Given the description of an element on the screen output the (x, y) to click on. 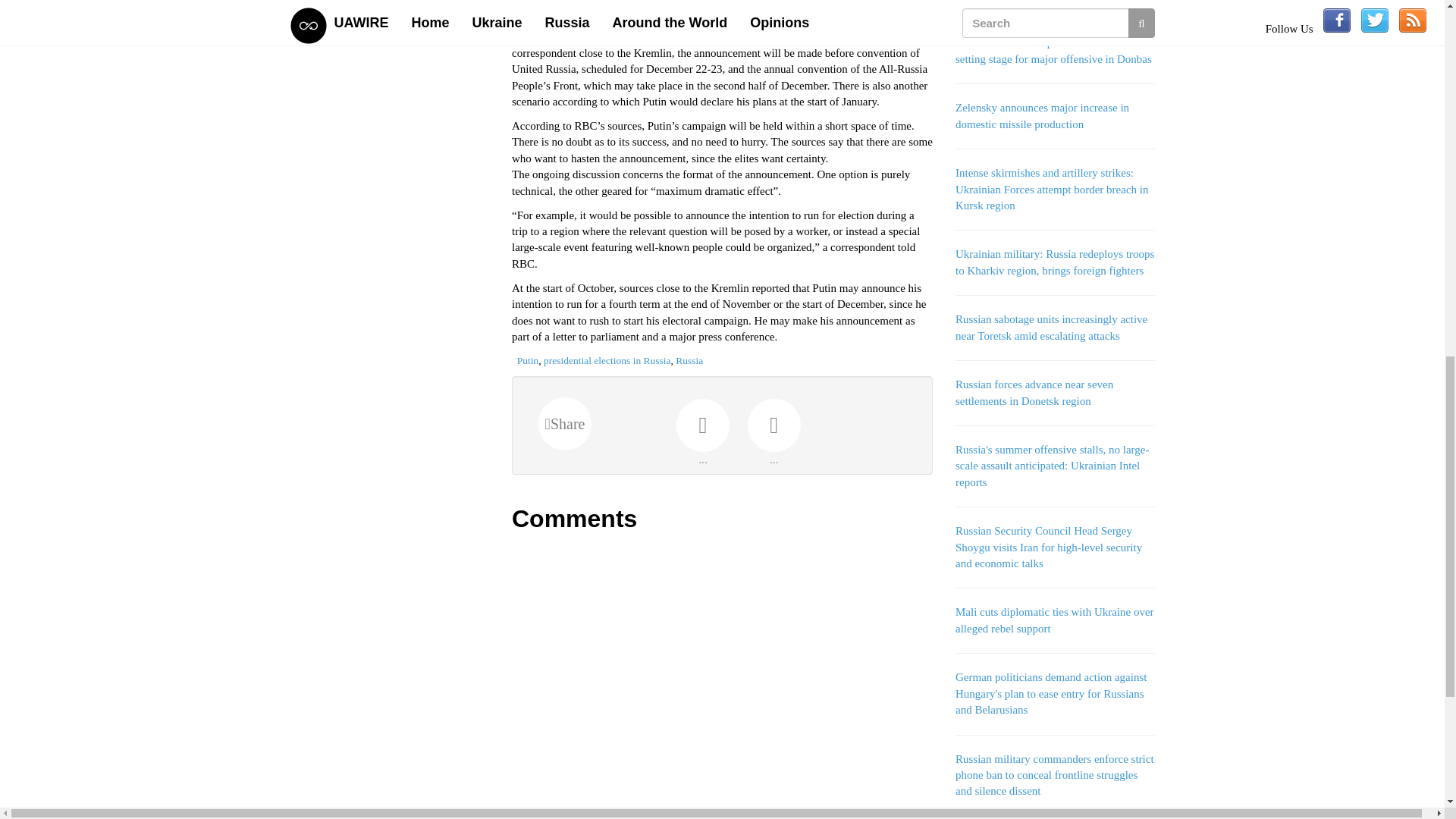
Russia (689, 360)
Putin (527, 360)
